Given the description of an element on the screen output the (x, y) to click on. 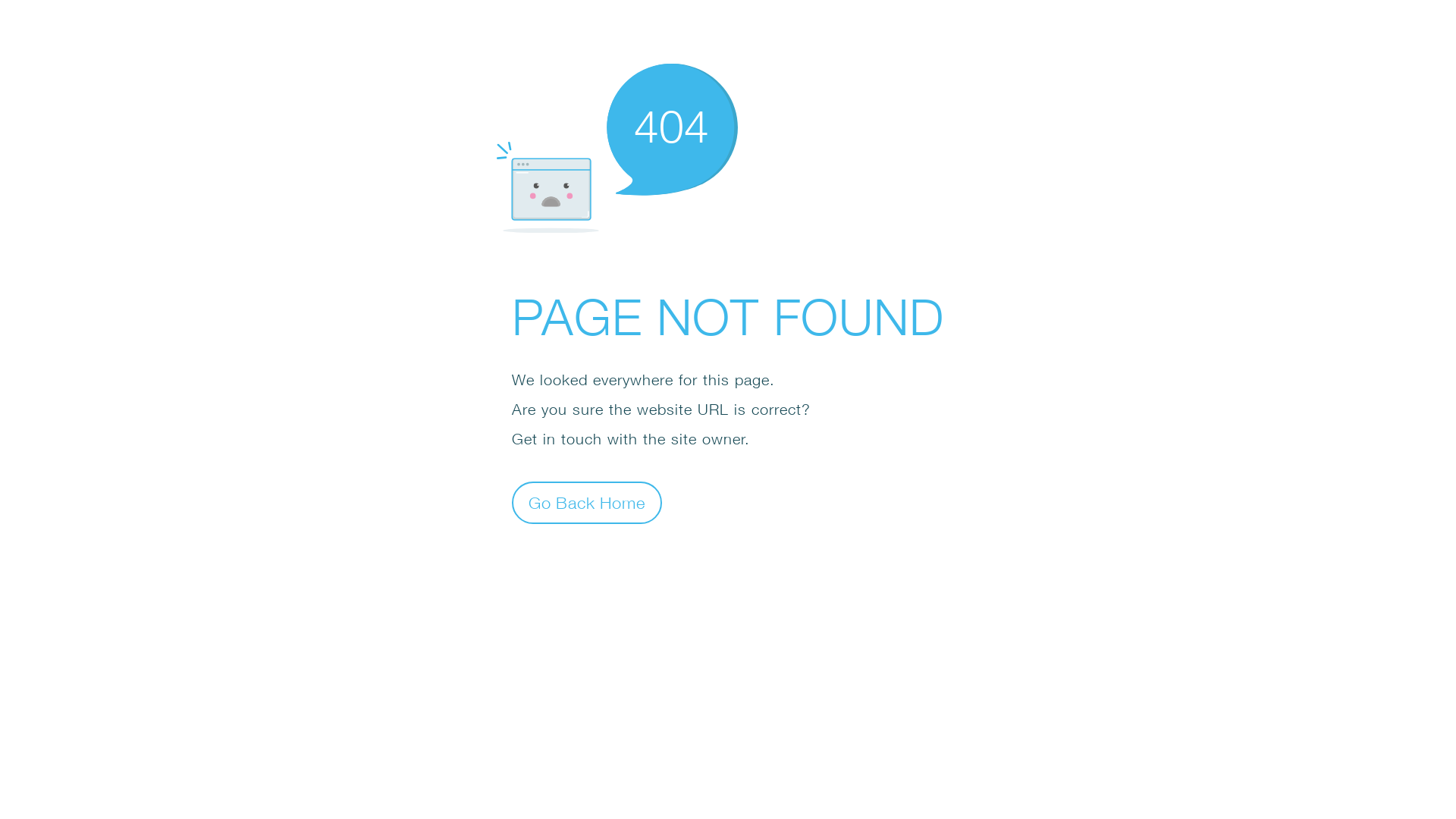
Go Back Home Element type: text (586, 502)
